Given the description of an element on the screen output the (x, y) to click on. 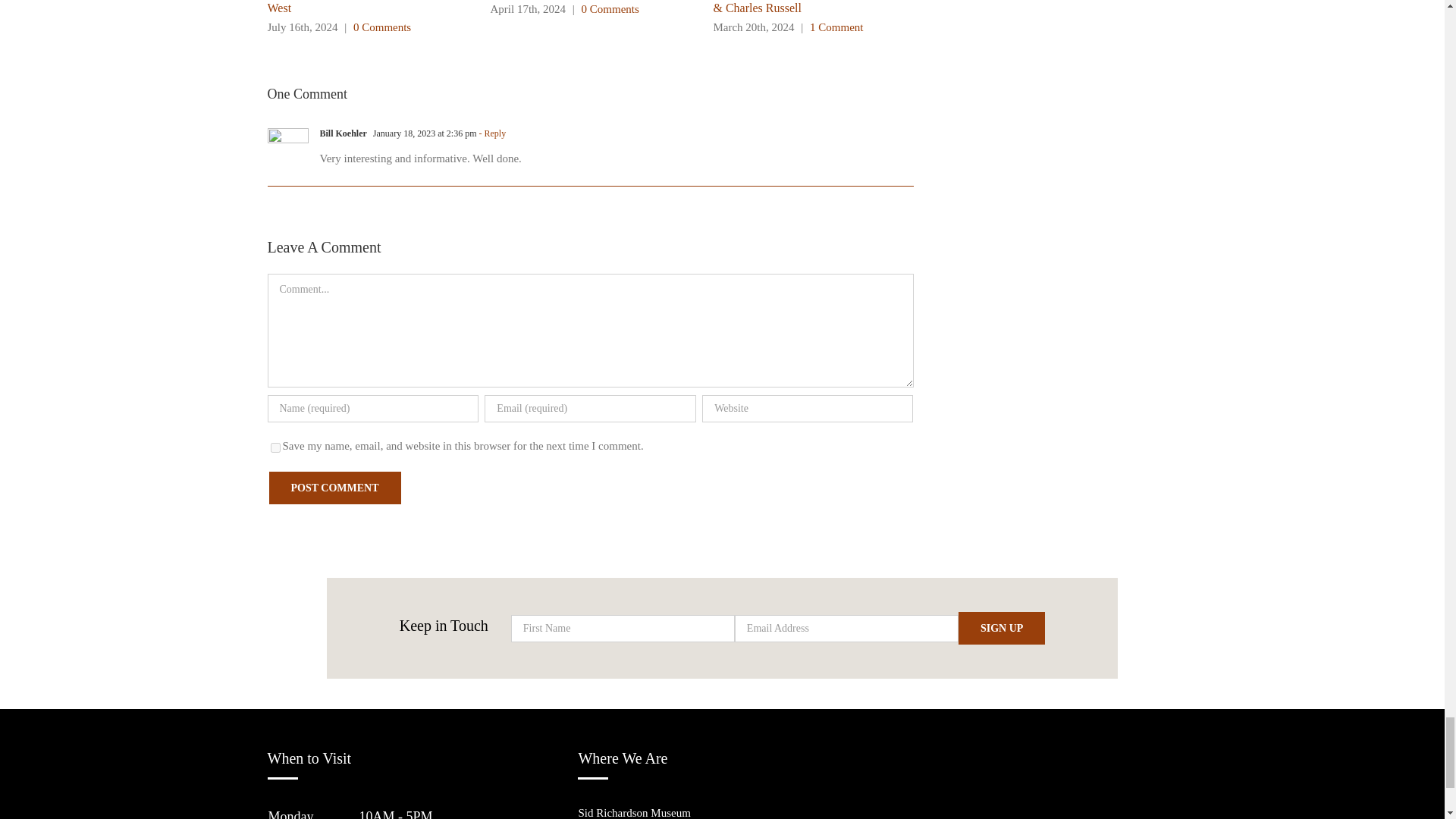
Post Comment (333, 488)
How the US Post Made the American West (357, 7)
Sign Up (1001, 627)
yes (274, 447)
